Given the description of an element on the screen output the (x, y) to click on. 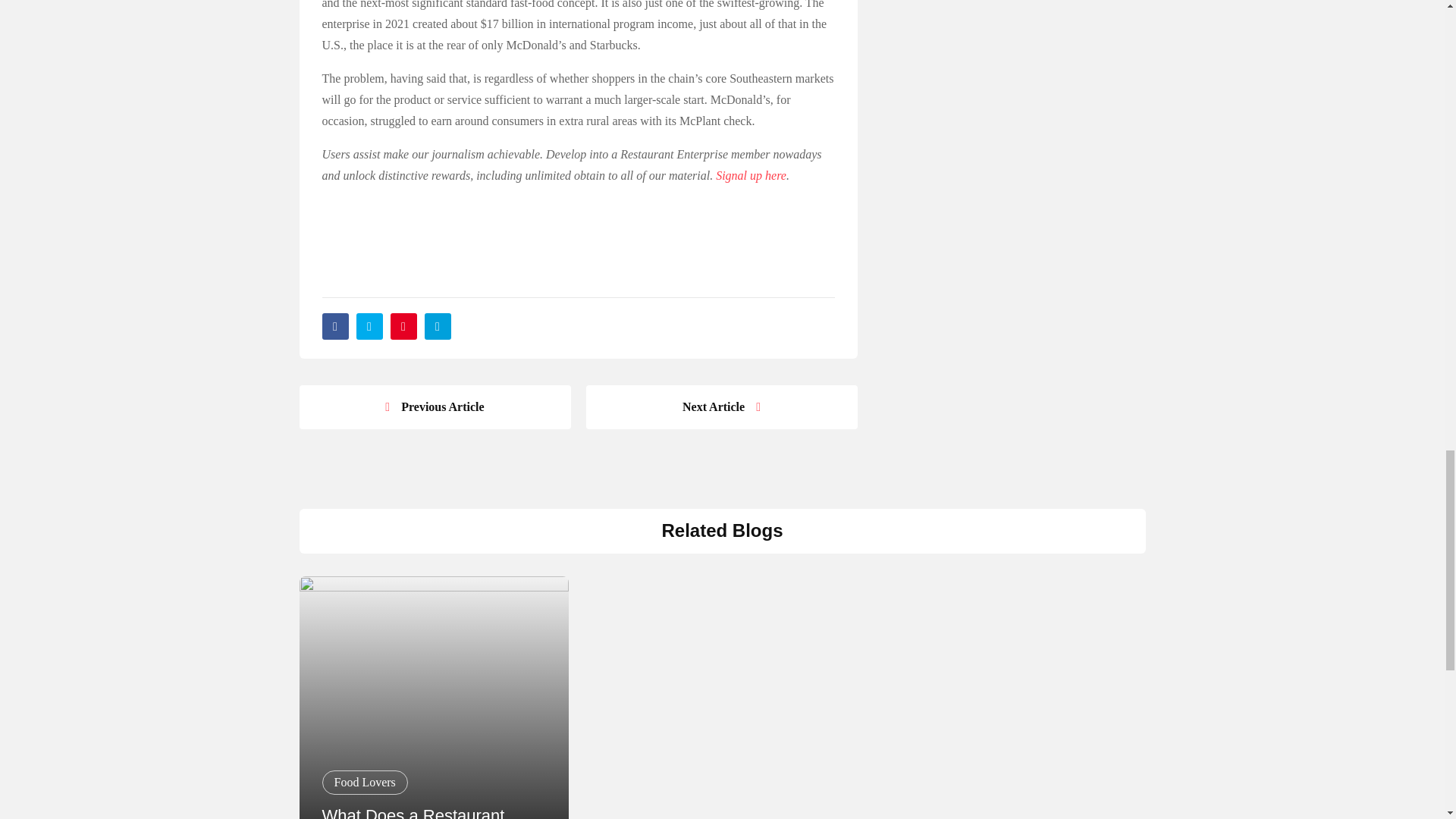
What Does a Restaurant Manager Do? (412, 812)
Next Article (721, 406)
Previous Article (434, 406)
Signal up here (751, 175)
Food Lovers (364, 782)
